Given the description of an element on the screen output the (x, y) to click on. 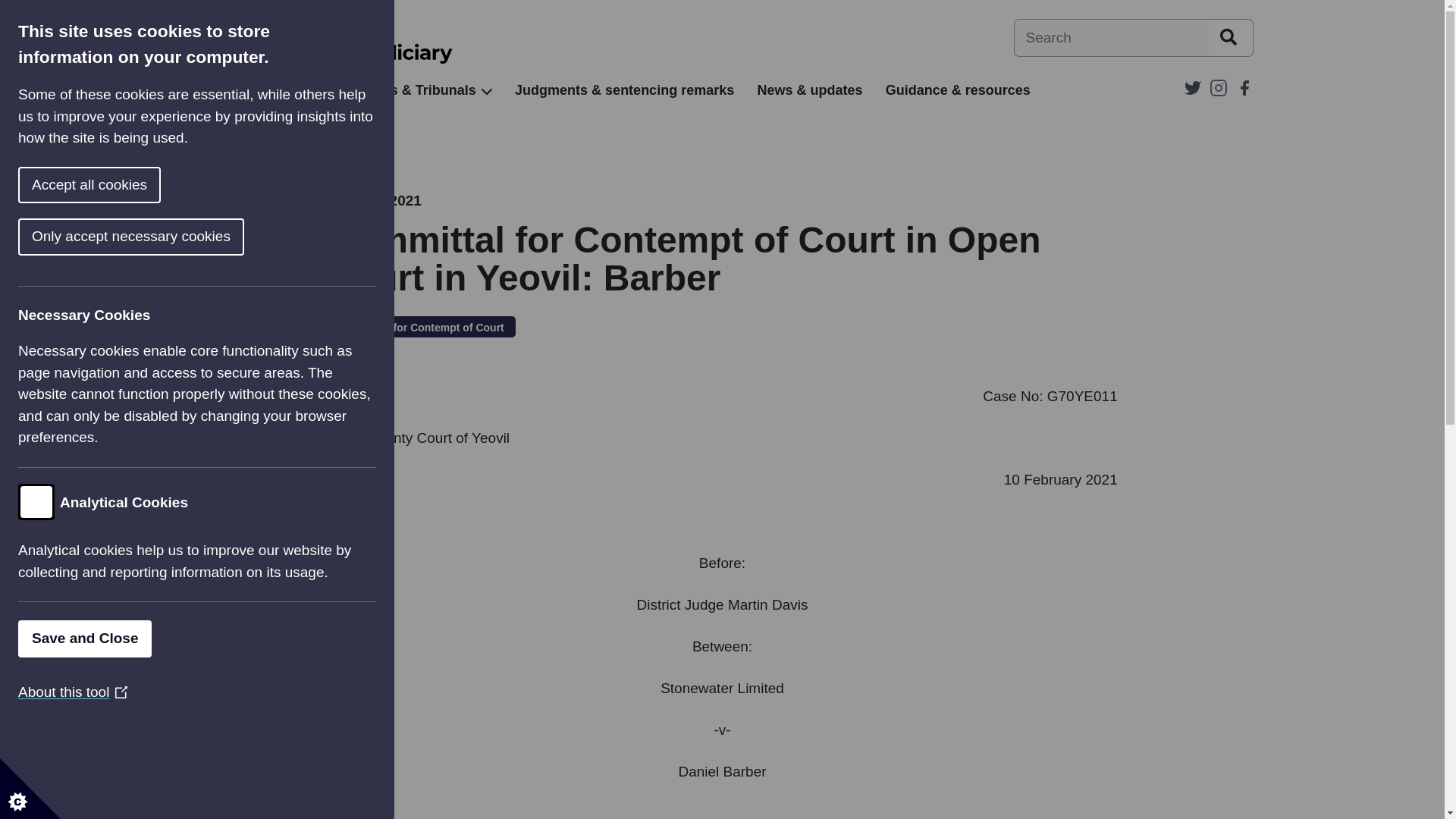
Skip to main content (11, 7)
Only accept necessary cookies (90, 236)
Save and Close (61, 638)
About the judiciary (252, 90)
Accept all cookies (32, 185)
